Given the description of an element on the screen output the (x, y) to click on. 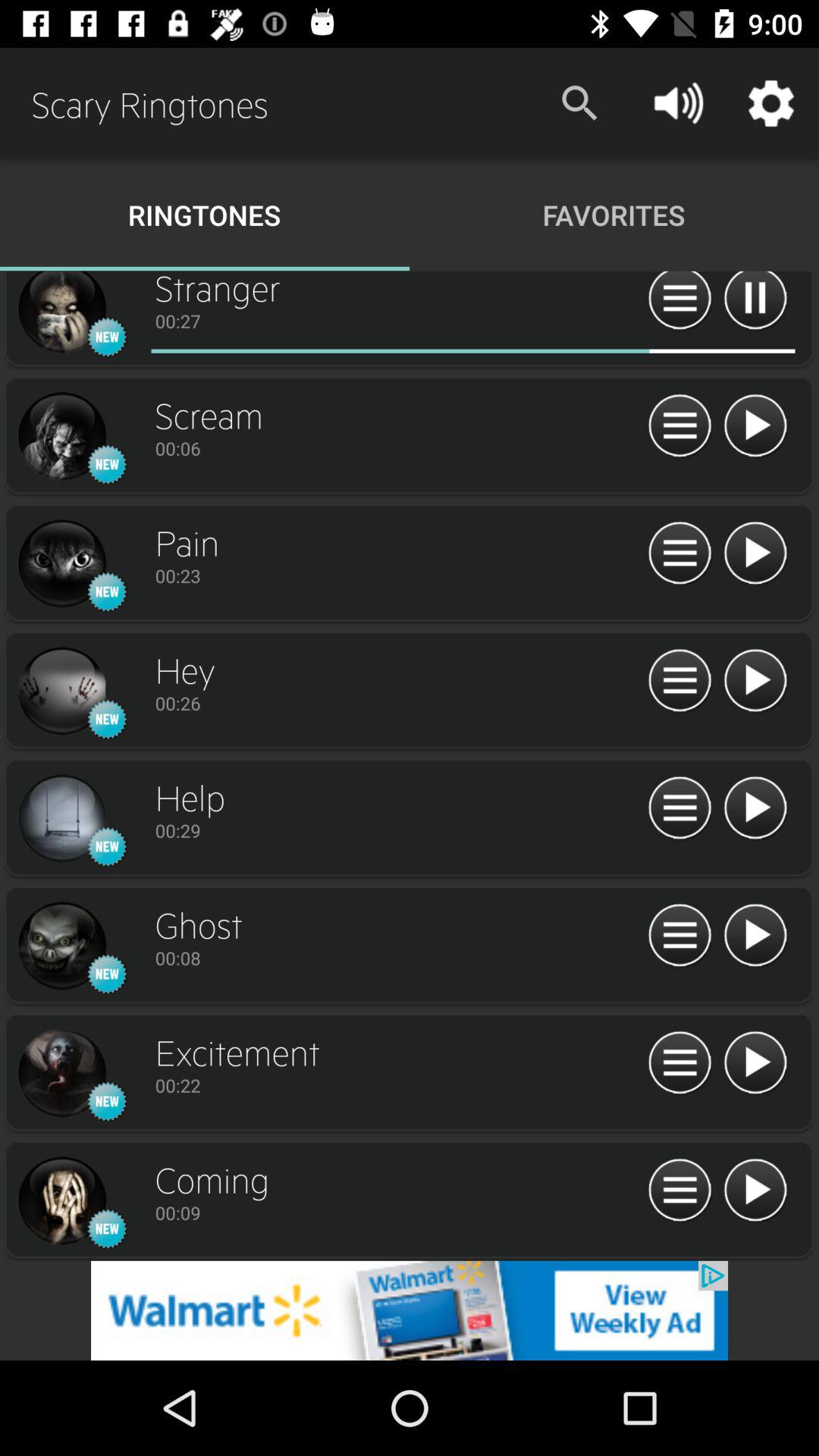
profile (61, 563)
